Given the description of an element on the screen output the (x, y) to click on. 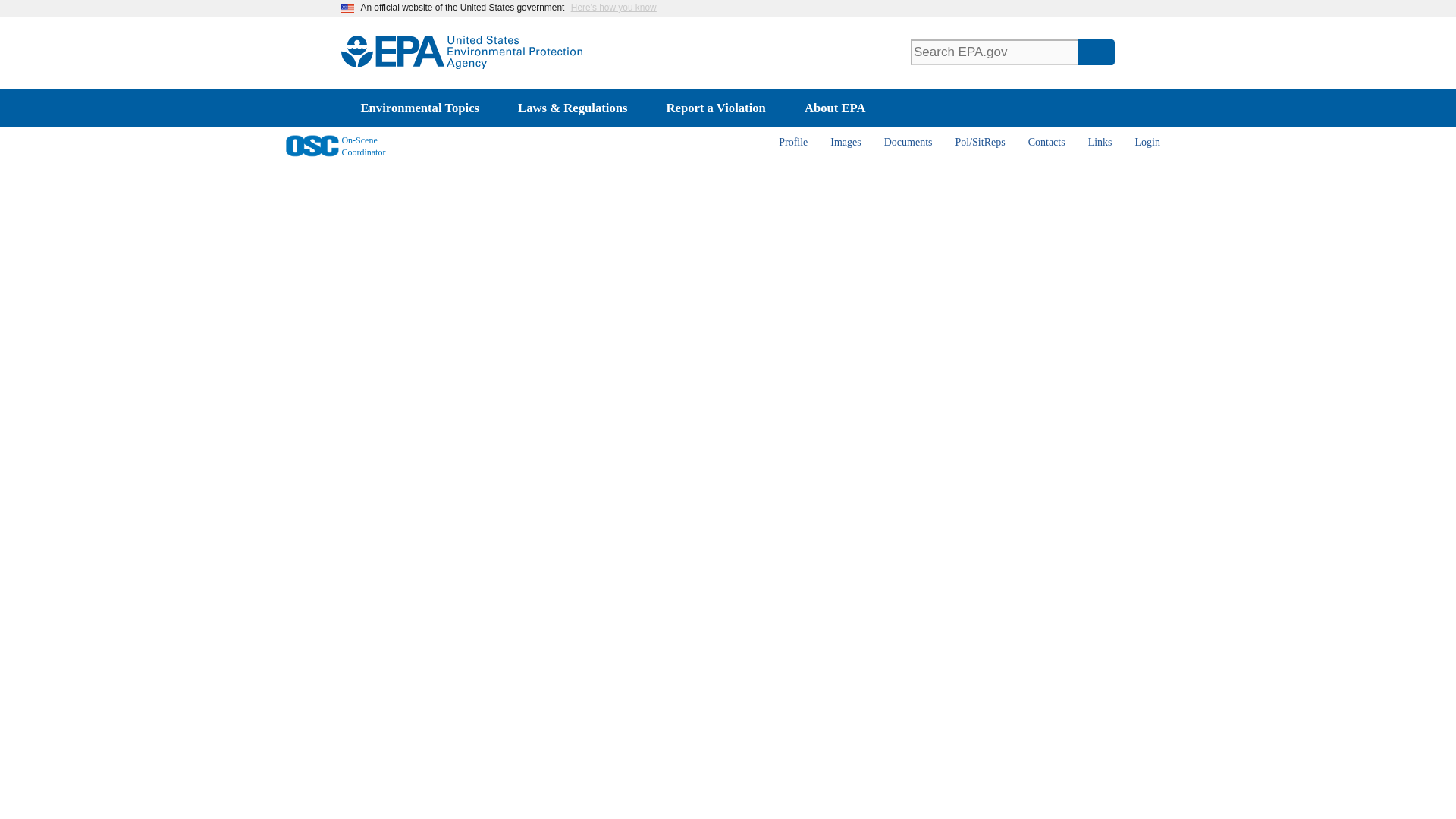
Contacts (1046, 142)
Profile (792, 142)
Home (480, 52)
Links (1100, 142)
Images (845, 142)
Report a Violation (715, 107)
Documents (907, 142)
About EPA (834, 107)
Go to the home page (311, 146)
Login (1148, 142)
Response Login (1148, 142)
Environmental Topics (419, 107)
On-Scene Coordinator (339, 142)
